Given the description of an element on the screen output the (x, y) to click on. 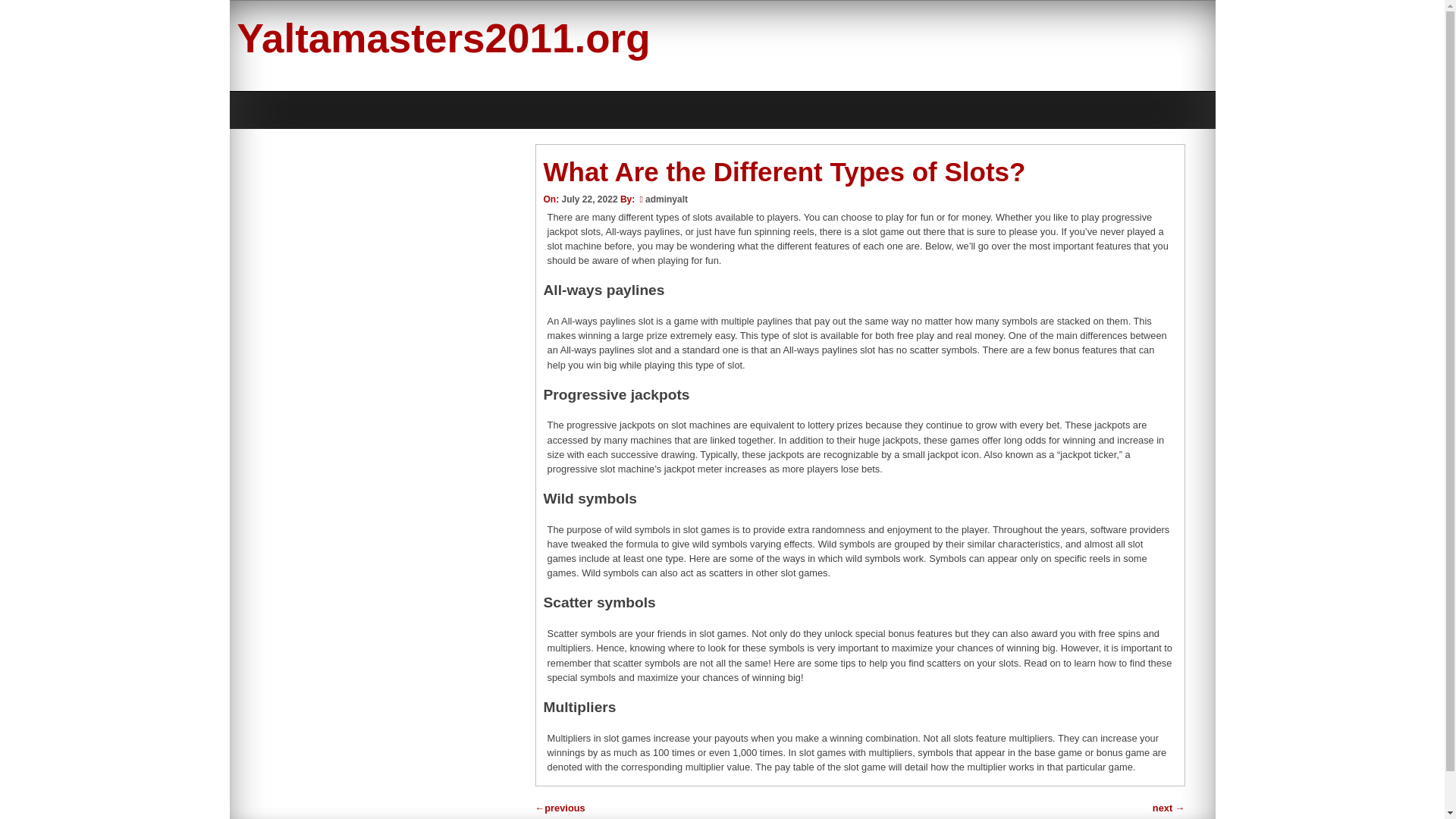
Yaltamasters2011.org (442, 37)
adminyalt (666, 199)
July 22, 2022 (588, 199)
